Given the description of an element on the screen output the (x, y) to click on. 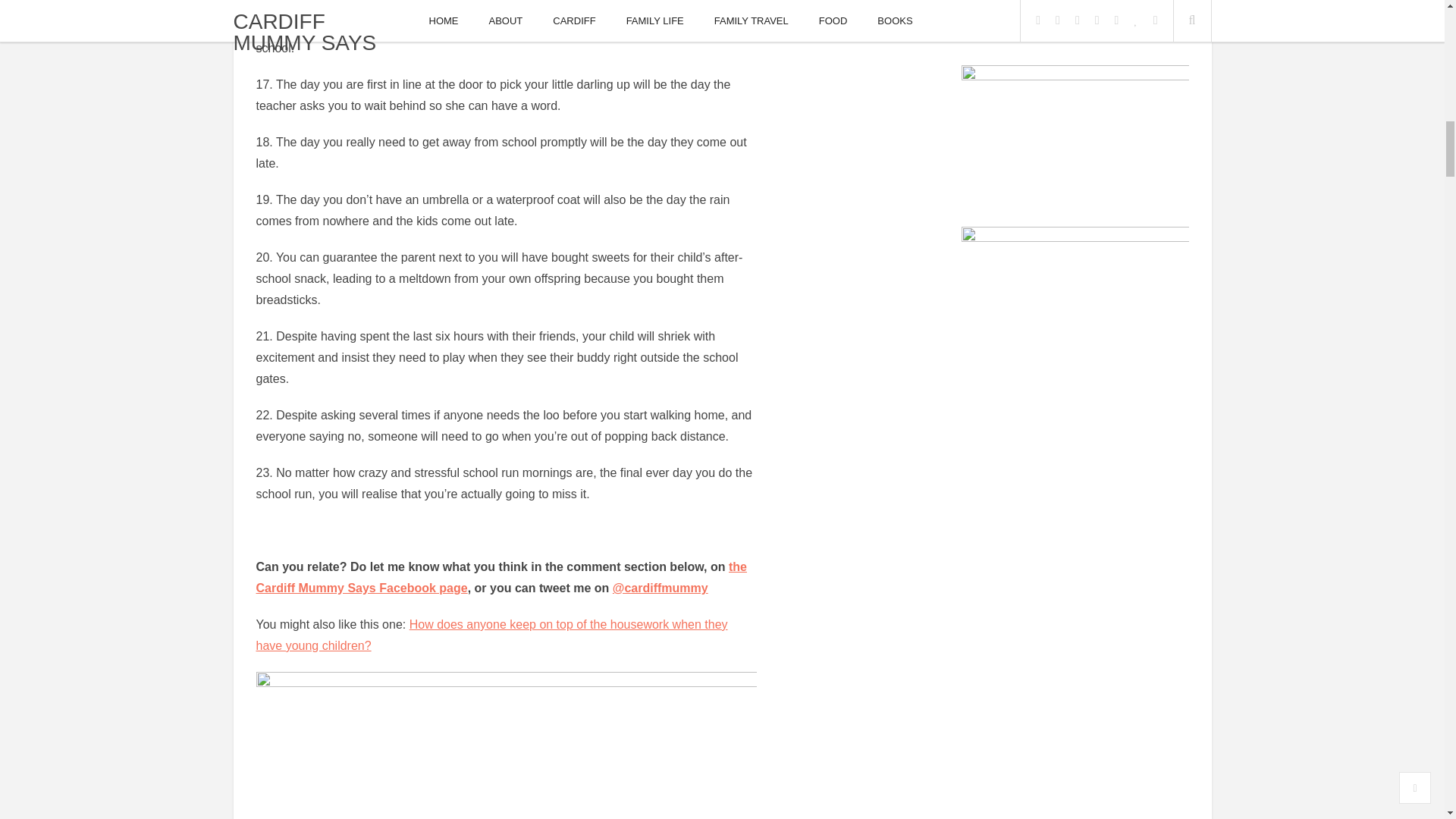
the Cardiff Mummy Says Facebook page (502, 577)
